Given the description of an element on the screen output the (x, y) to click on. 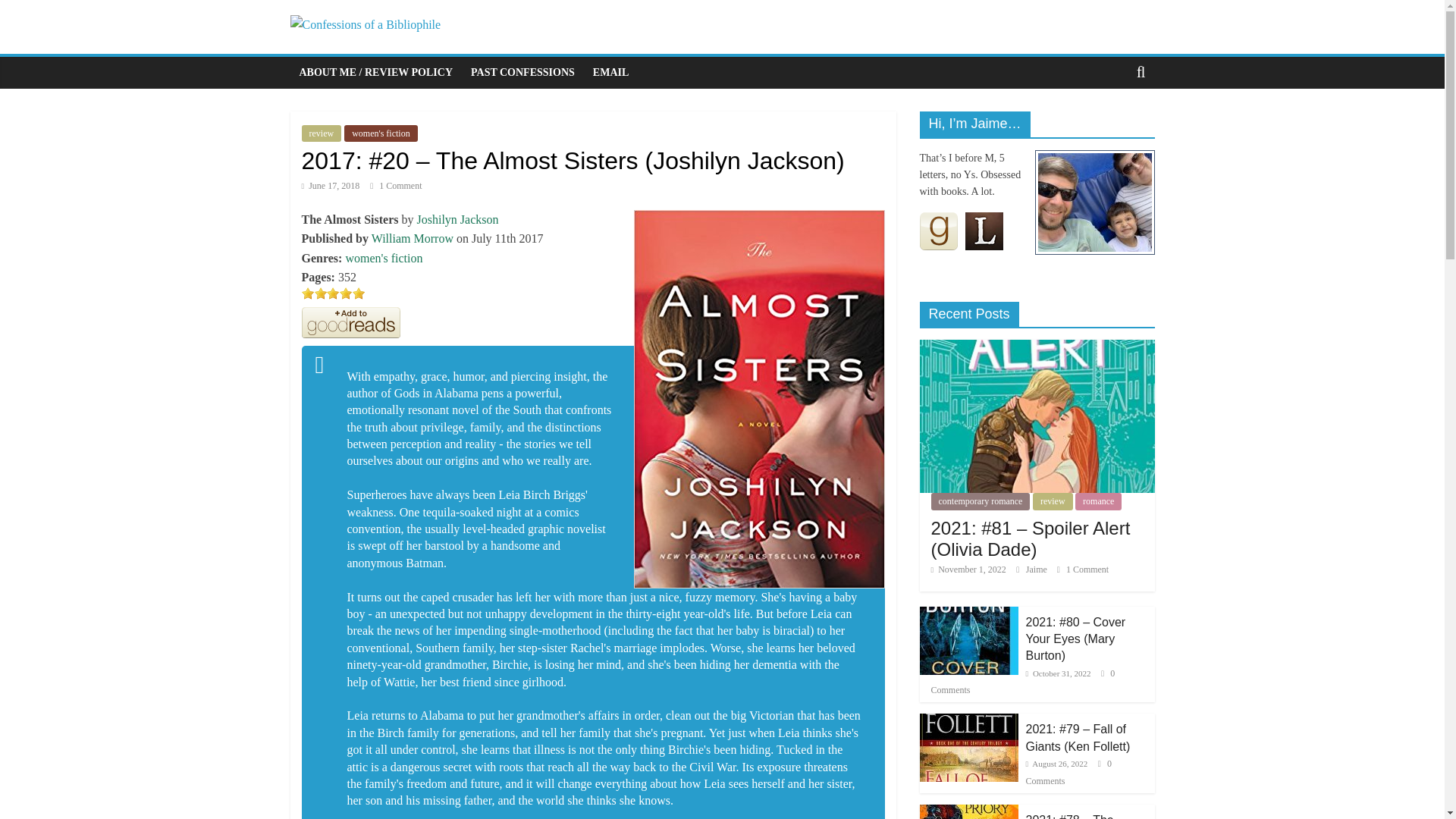
8:35 am (330, 185)
review (321, 133)
Joshilyn Jackson (457, 219)
EMAIL (610, 72)
4:27 pm (968, 569)
PAST CONFESSIONS (522, 72)
1 Comment (395, 185)
women's fiction (383, 257)
William Morrow (411, 237)
June 17, 2018 (330, 185)
women's fiction (379, 133)
